Given the description of an element on the screen output the (x, y) to click on. 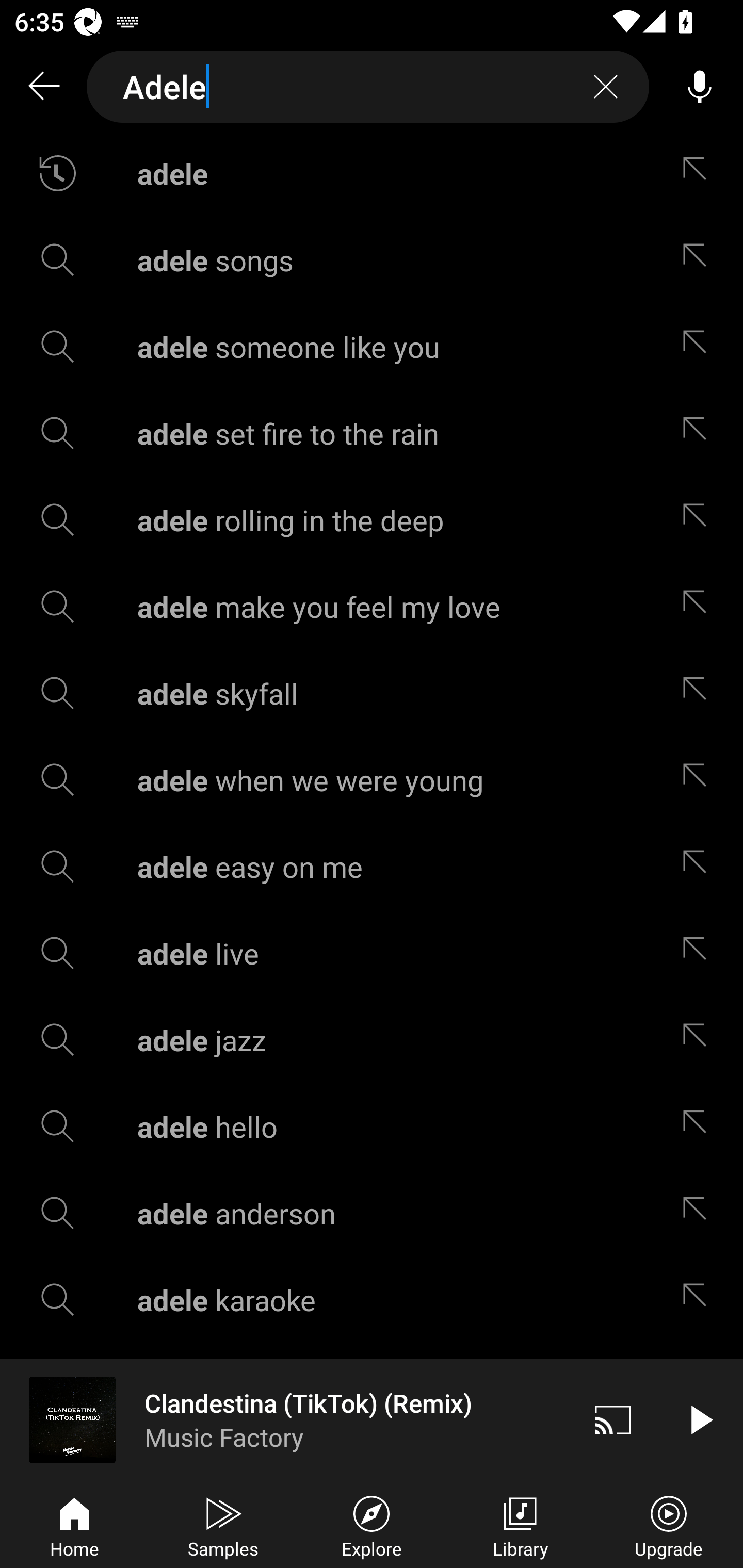
Search back (43, 86)
Adele (367, 86)
Clear search (605, 86)
Voice search (699, 86)
adele Edit suggestion adele (371, 173)
Edit suggestion adele (699, 173)
adele songs Edit suggestion adele songs (371, 259)
Edit suggestion adele songs (699, 259)
Edit suggestion adele someone like you (699, 346)
Edit suggestion adele set fire to the rain (699, 433)
Edit suggestion adele rolling in the deep (699, 519)
Edit suggestion adele make you feel my love (699, 605)
adele skyfall Edit suggestion adele skyfall (371, 692)
Edit suggestion adele skyfall (699, 692)
Edit suggestion adele when we were young (699, 779)
adele easy on me Edit suggestion adele easy on me (371, 866)
Edit suggestion adele easy on me (699, 866)
adele live Edit suggestion adele live (371, 953)
Edit suggestion adele live (699, 953)
adele jazz Edit suggestion adele jazz (371, 1040)
Edit suggestion adele jazz (699, 1040)
adele hello Edit suggestion adele hello (371, 1126)
Edit suggestion adele hello (699, 1126)
adele anderson Edit suggestion adele anderson (371, 1212)
Edit suggestion adele anderson (699, 1212)
adele karaoke Edit suggestion adele karaoke (371, 1299)
Edit suggestion adele karaoke (699, 1299)
Clandestina (TikTok) (Remix) Music Factory (284, 1419)
Cast. Disconnected (612, 1419)
Play video (699, 1419)
Home (74, 1524)
Samples (222, 1524)
Explore (371, 1524)
Library (519, 1524)
Upgrade (668, 1524)
